Given the description of an element on the screen output the (x, y) to click on. 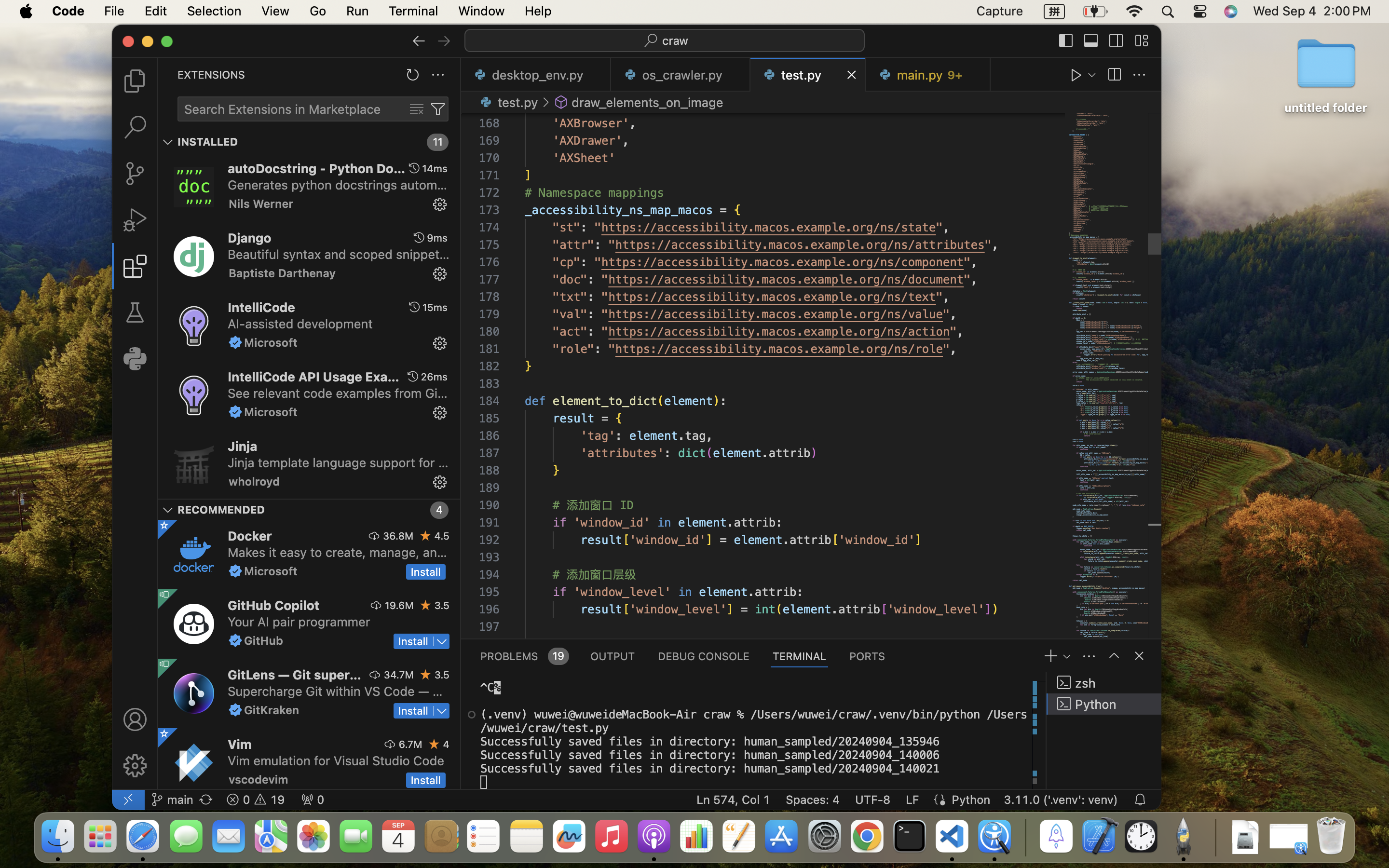
1 test.py   Element type: AXRadioButton (808, 74)
 Element type: AXButton (1138, 655)
34.7M Element type: AXStaticText (398, 674)
test.py  Element type: AXGroup (507, 101)
0 DEBUG CONSOLE Element type: AXRadioButton (703, 655)
